Given the description of an element on the screen output the (x, y) to click on. 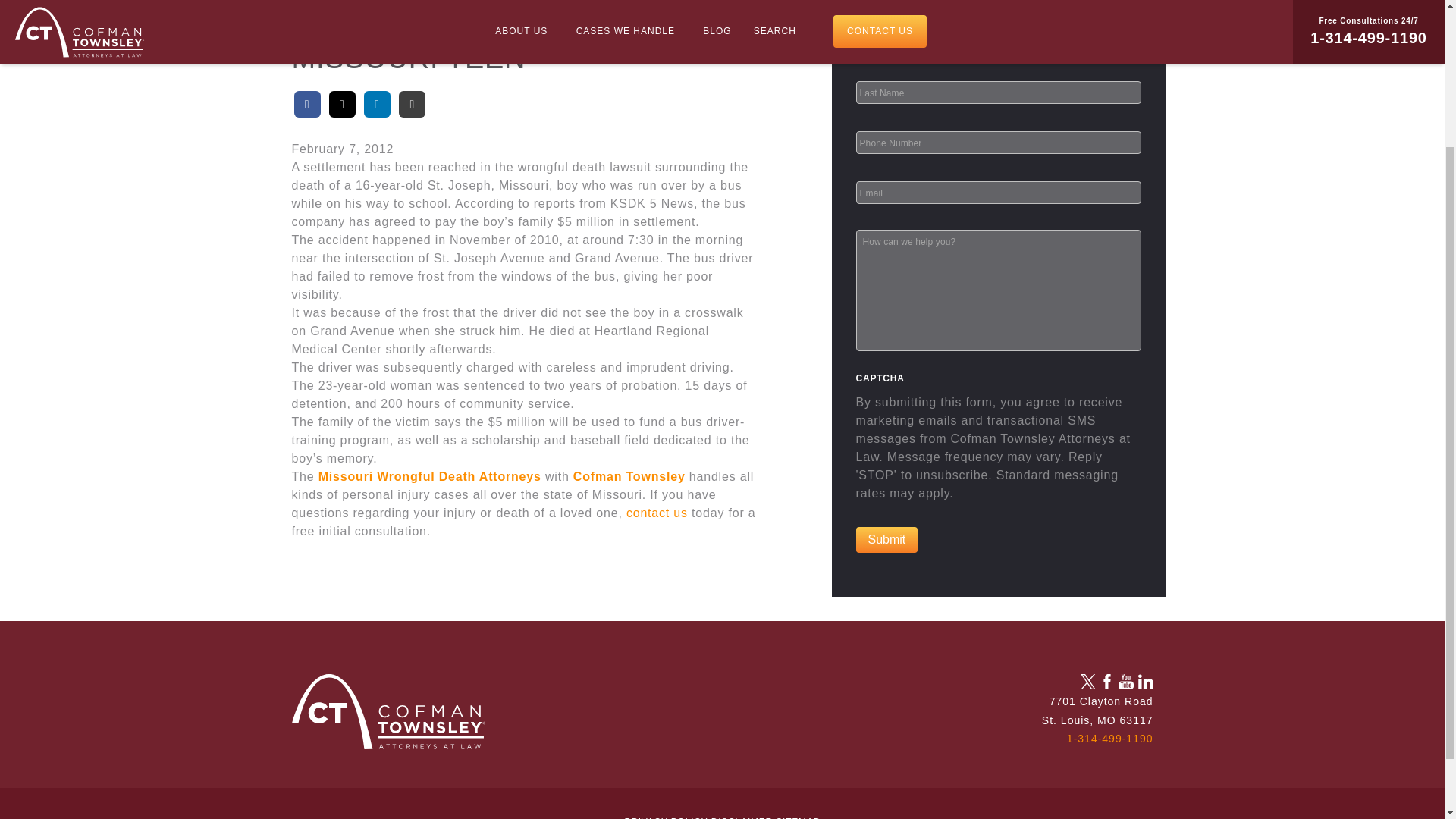
Submit (886, 539)
Cofman Townsley Twitter Profile (1088, 681)
Cofman Townsley Facebook Page (1107, 681)
Cofman Townsley LinkedIn Profile (1145, 681)
Cofman Townsley YouTube Channel (1126, 681)
